Given the description of an element on the screen output the (x, y) to click on. 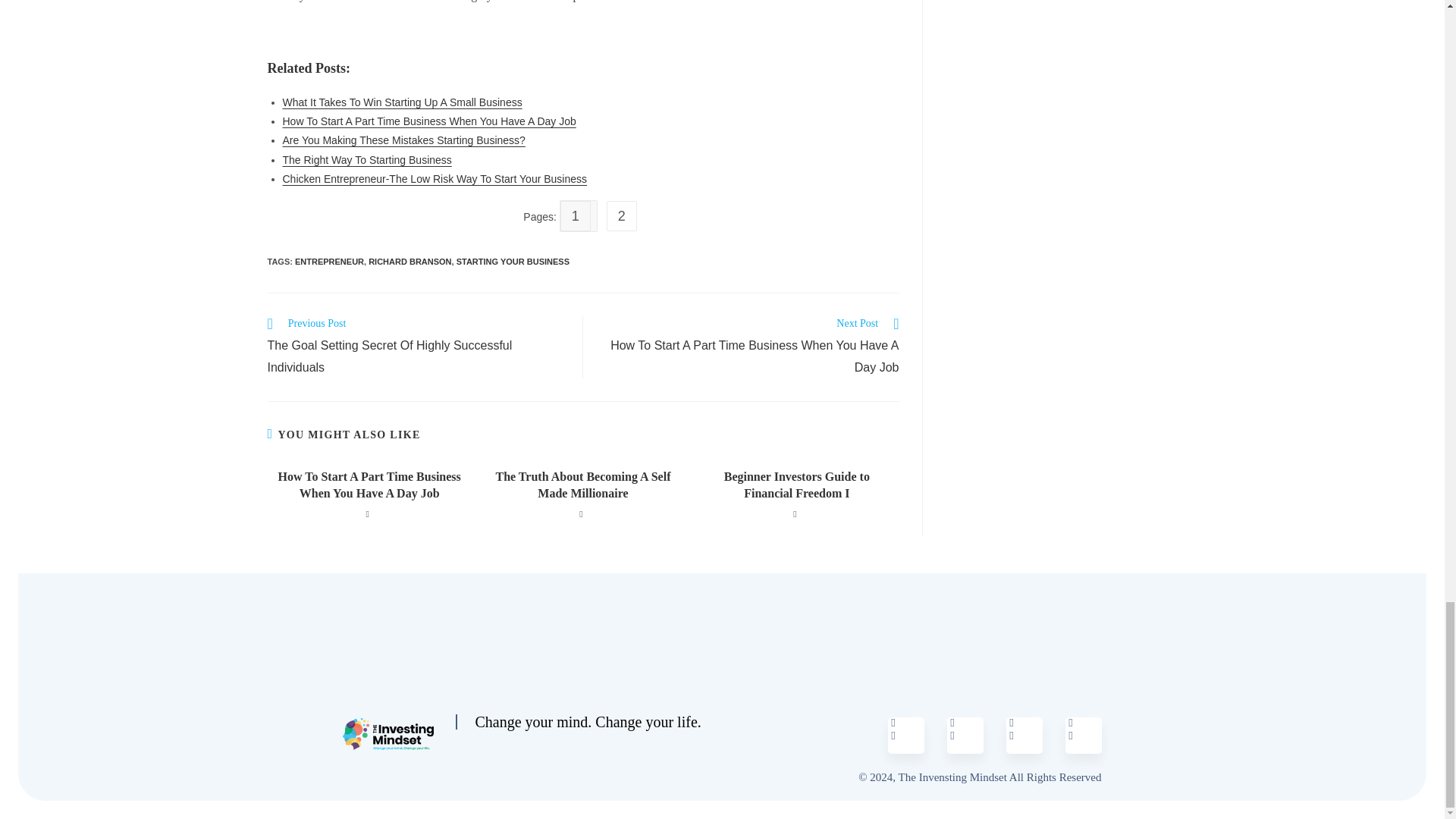
Beginner Investors Guide to Financial Freedom I (796, 485)
How To Start A Part Time Business When You Have A Day Job (368, 485)
ENTREPRENEUR (329, 261)
The Truth About Becoming A Self Made Millionaire (582, 485)
RICHARD BRANSON (409, 261)
What It Takes To Win Starting Up A Small Business (401, 102)
2 (625, 216)
STARTING YOUR BUSINESS (513, 261)
How To Start A Part Time Business When You Have A Day Job (428, 121)
The Right Way To Starting Business (366, 159)
Are You Making These Mistakes Starting Business? (403, 140)
Chicken Entrepreneur-The Low Risk Way To Start Your Business (434, 178)
